Given the description of an element on the screen output the (x, y) to click on. 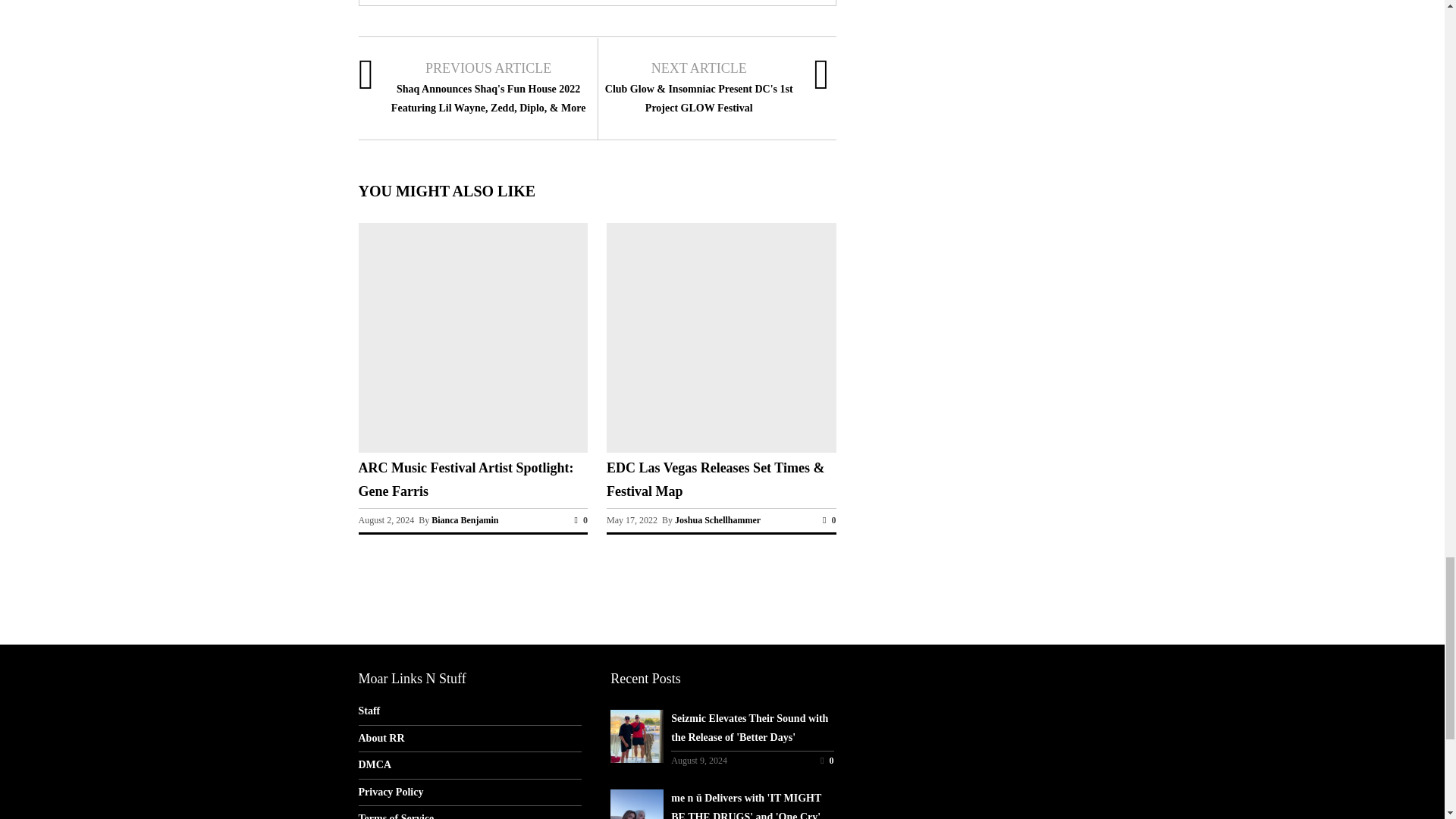
ARC Music Festival Artist Spotlight: Gene Farris (472, 449)
ARC Music Festival Artist Spotlight: Gene Farris (465, 479)
